Given the description of an element on the screen output the (x, y) to click on. 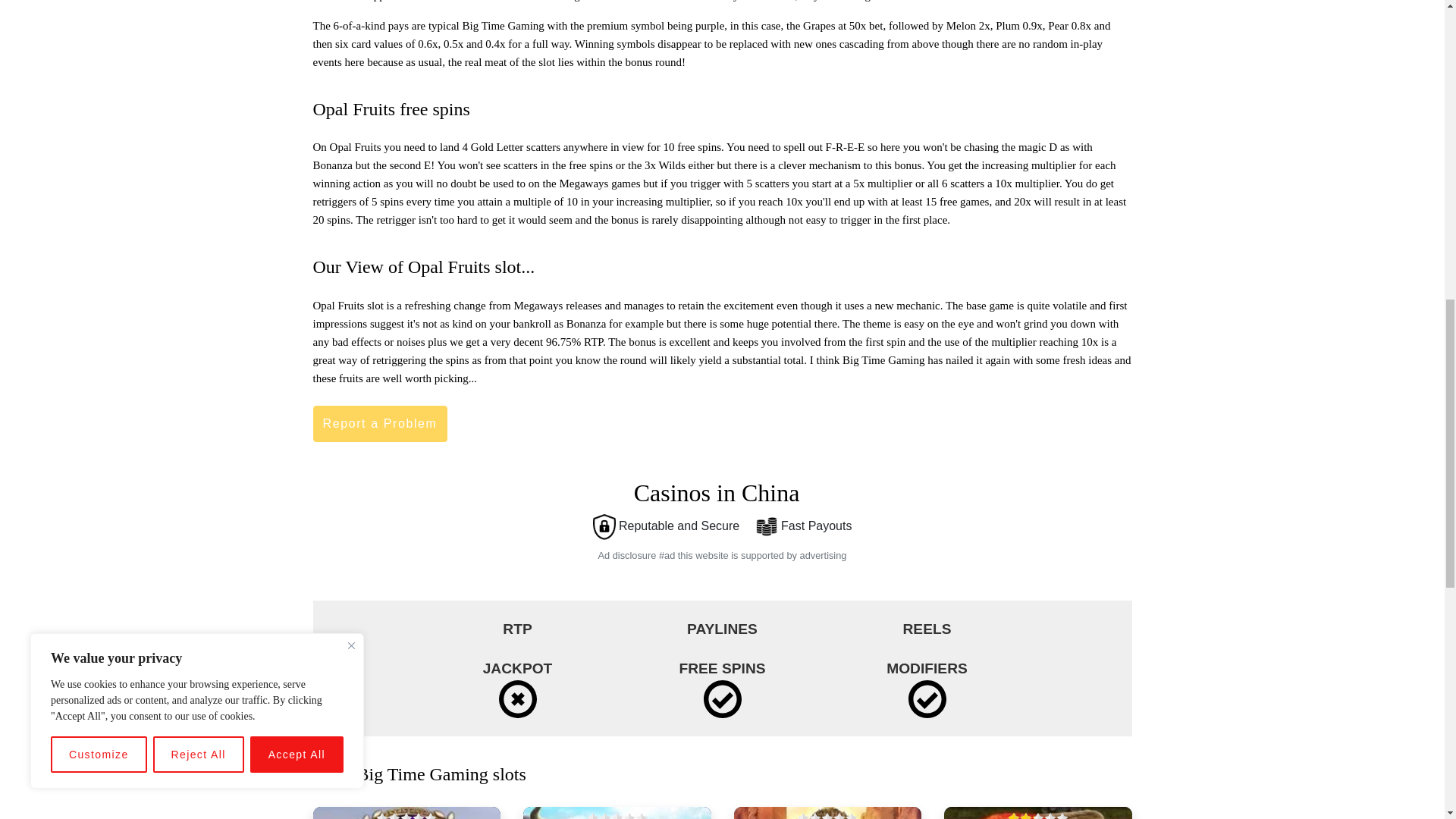
Bonanza slot (1037, 812)
Beef Lightning Megaways slot (616, 812)
Paylines (722, 629)
Return to player (517, 629)
Big Bad Bison Megaways slot (827, 812)
Report a Problem (379, 423)
Reels (927, 629)
Apollo Pays Megaways slot (406, 812)
